Given the description of an element on the screen output the (x, y) to click on. 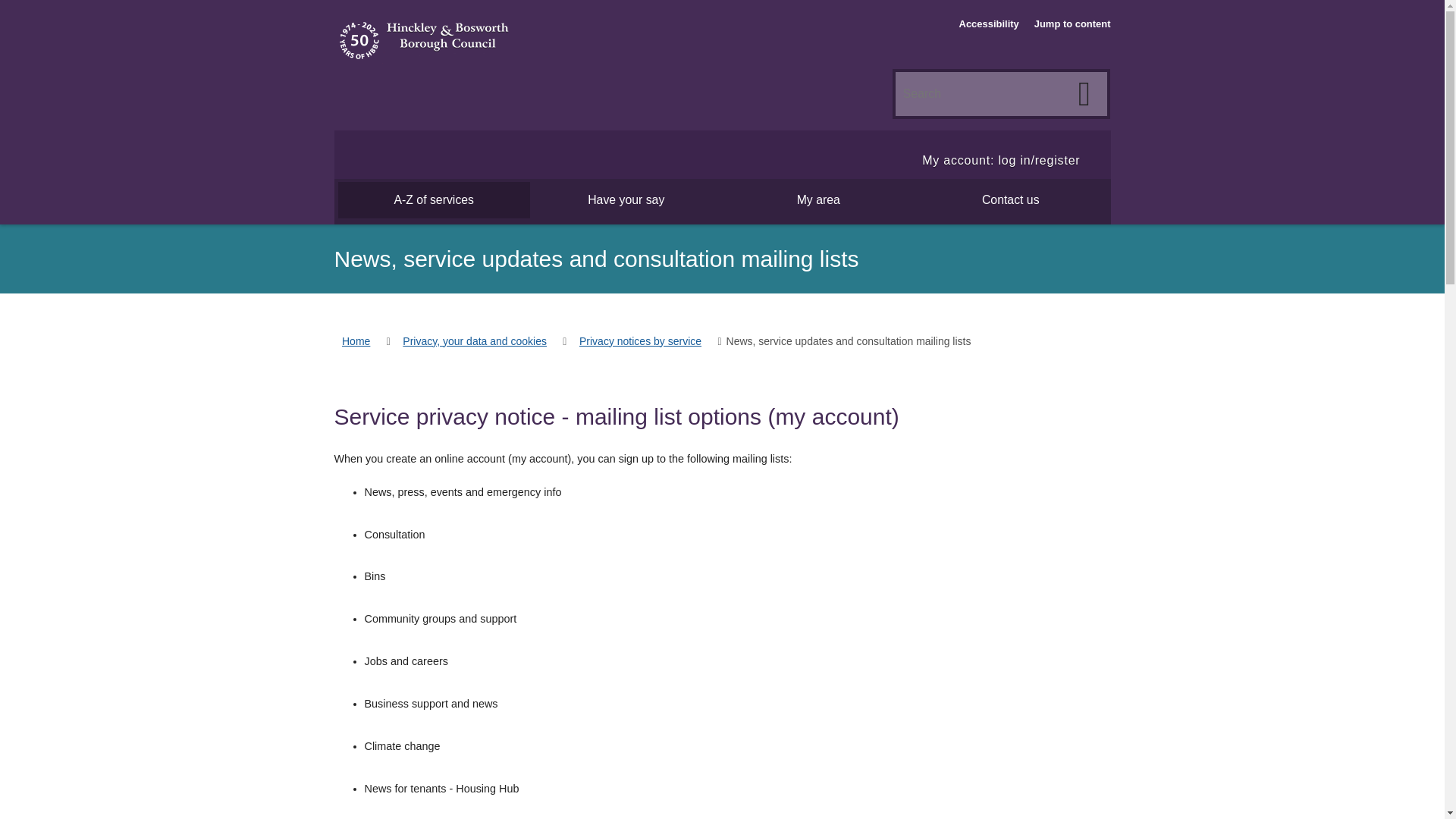
Home (355, 336)
Contact us (1010, 199)
Privacy notices by service (639, 336)
Privacy, your data and cookies (474, 336)
My area (818, 199)
Have your say (625, 199)
Click to Search (1083, 93)
Jump to content (1071, 29)
Accessibility (989, 29)
A-Z of services (434, 199)
